Given the description of an element on the screen output the (x, y) to click on. 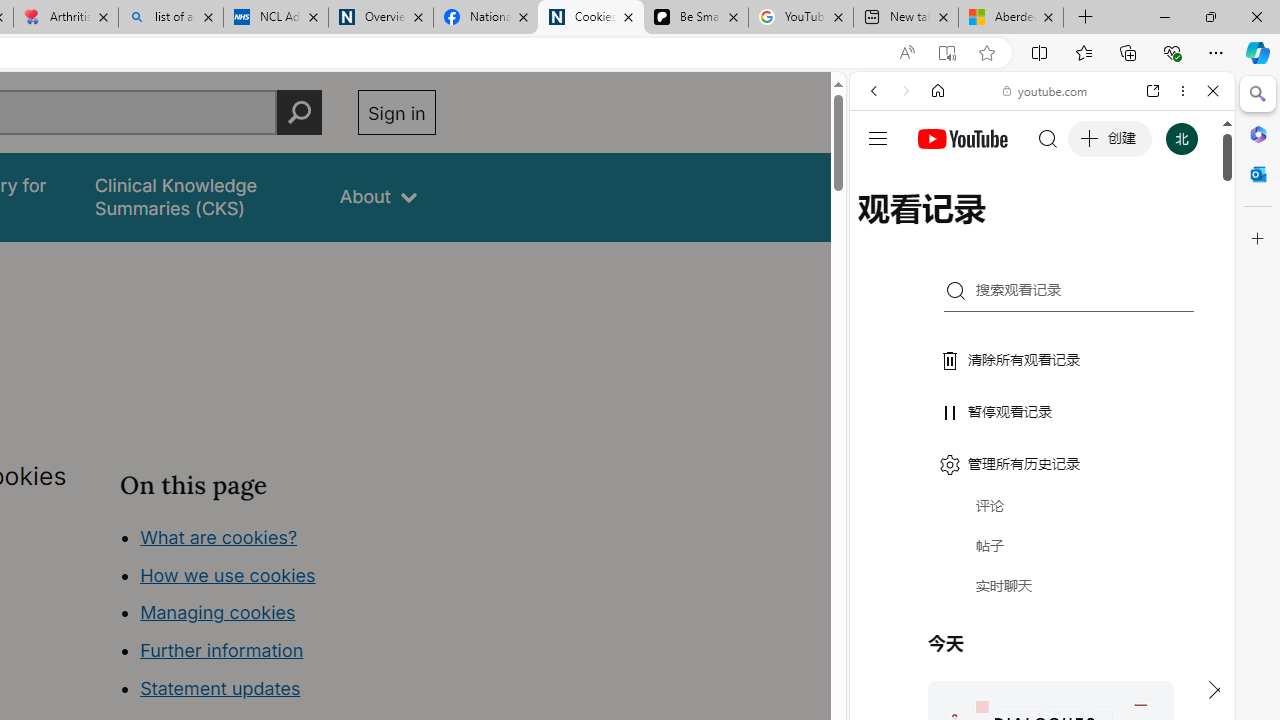
Be Smart | creating Science videos | Patreon (695, 17)
YouTube (1034, 296)
Google (1042, 494)
Search Filter, IMAGES (939, 228)
